Given the description of an element on the screen output the (x, y) to click on. 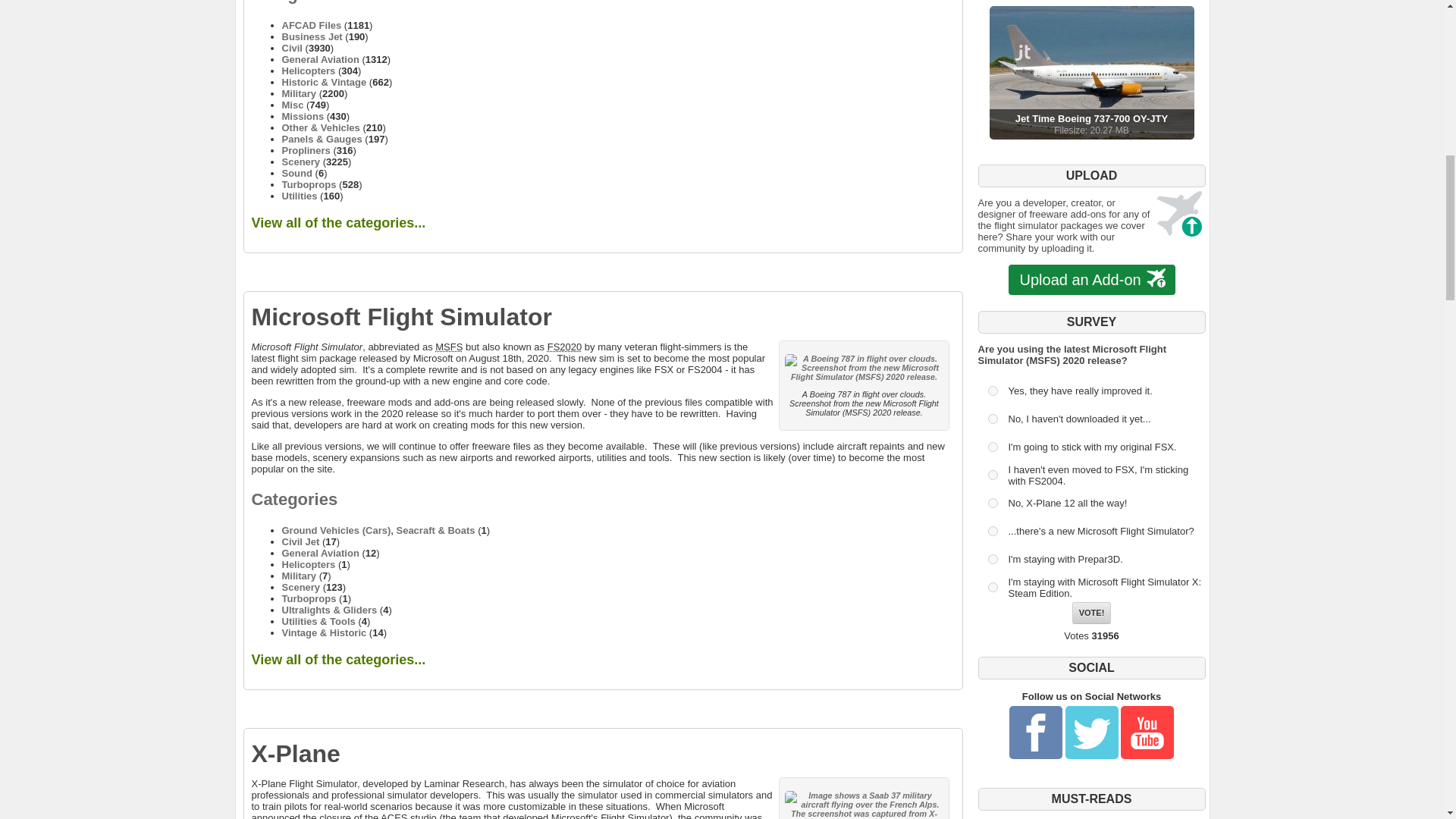
2 (992, 419)
Flight Simulator 2020 (564, 346)
7 (992, 559)
View all of the categories... (338, 222)
Military (299, 93)
Scenery (301, 161)
General Aviation (320, 59)
Civil (292, 48)
Business Jet (312, 36)
4 (992, 474)
